Given the description of an element on the screen output the (x, y) to click on. 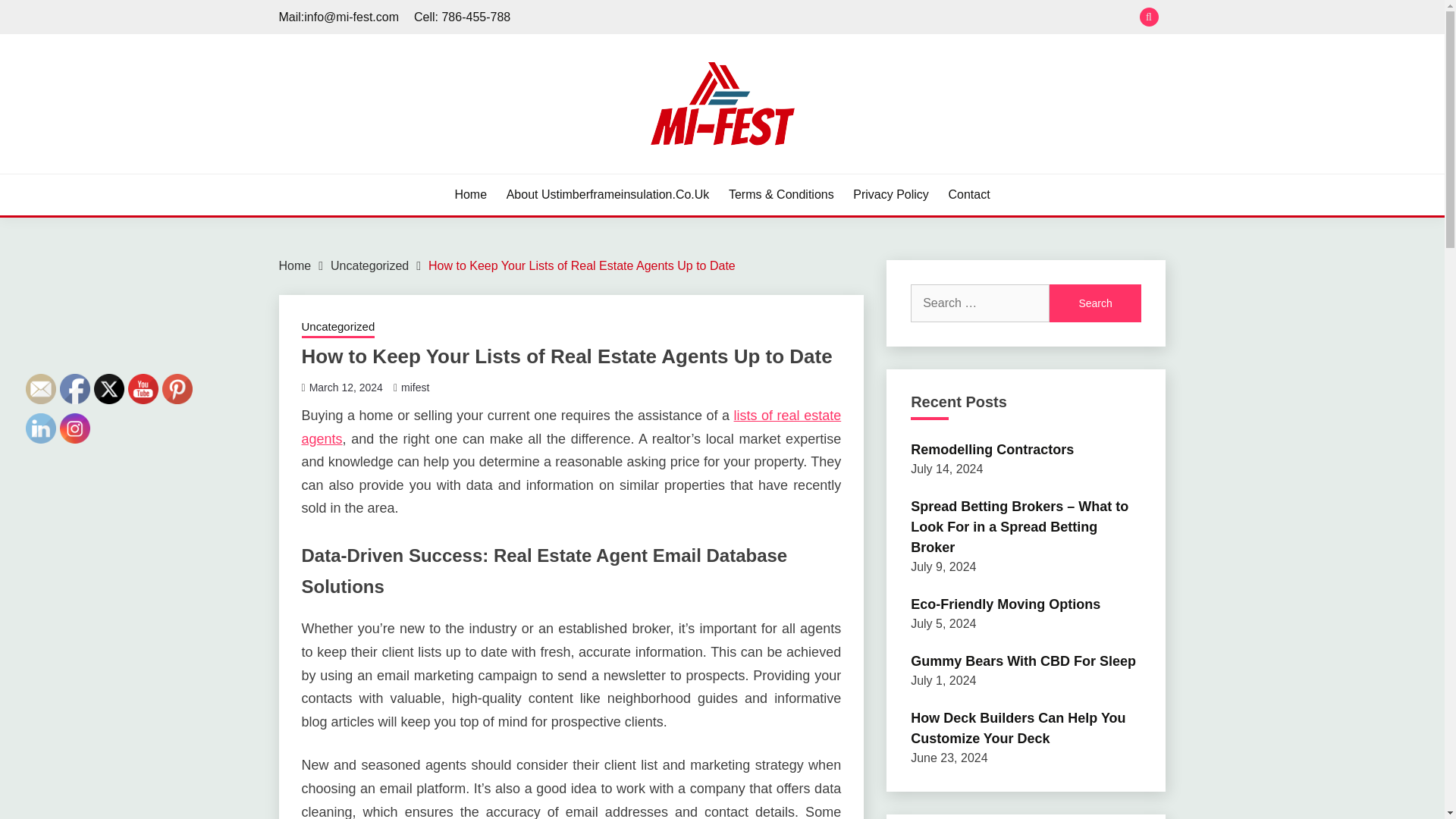
March 12, 2024 (345, 387)
Home (295, 265)
Search (1095, 303)
Search (1095, 303)
Search (832, 18)
Cell: 786-455-788 (462, 16)
Home (470, 194)
MI-FEST (334, 171)
Uncategorized (369, 265)
About Ustimberframeinsulation.Co.Uk (608, 194)
Uncategorized (338, 328)
YouTube (143, 388)
Contact (968, 194)
Search (1095, 303)
Remodelling Contractors (992, 449)
